Given the description of an element on the screen output the (x, y) to click on. 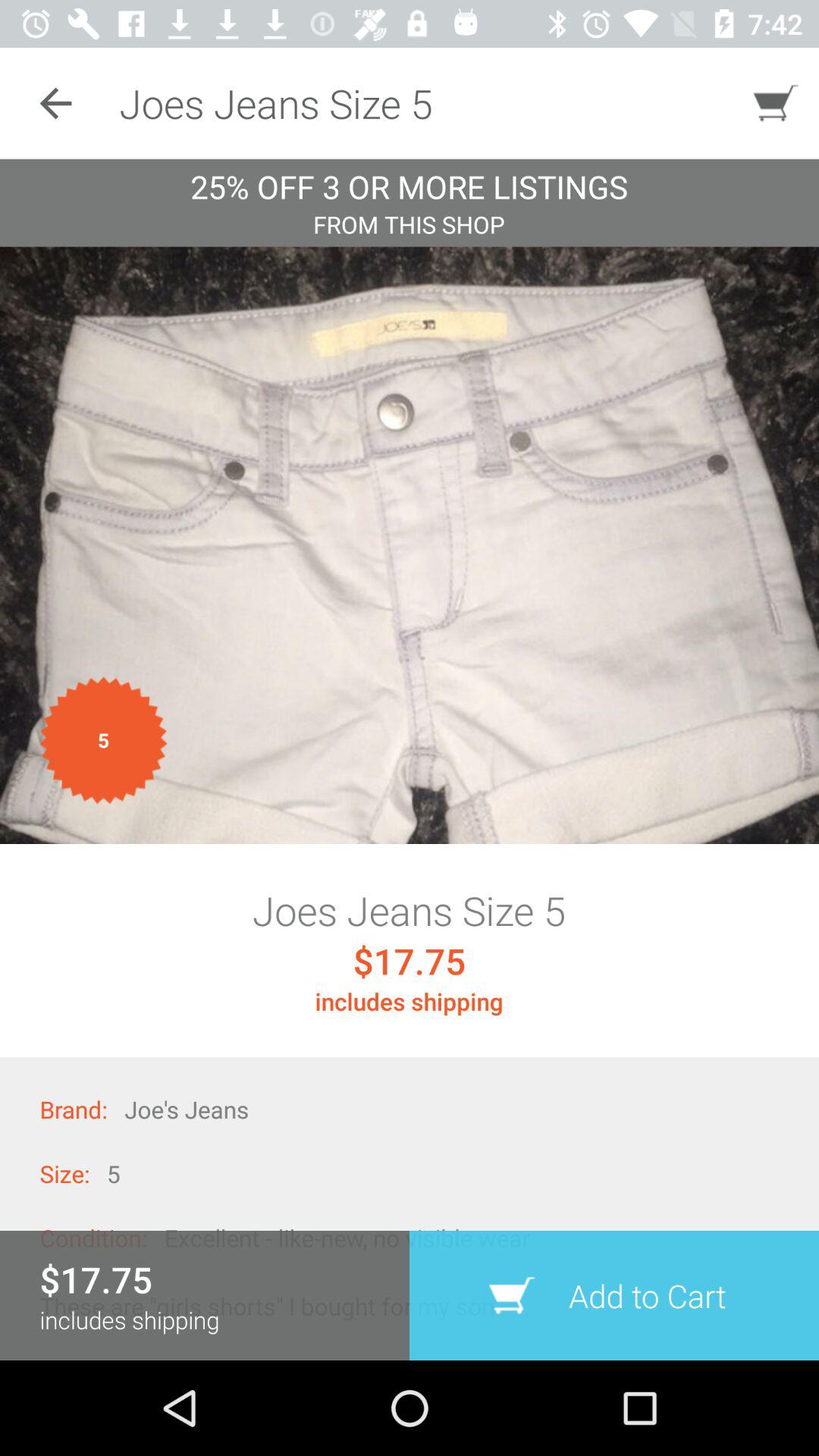
open the icon below the condition: (270, 1305)
